Given the description of an element on the screen output the (x, y) to click on. 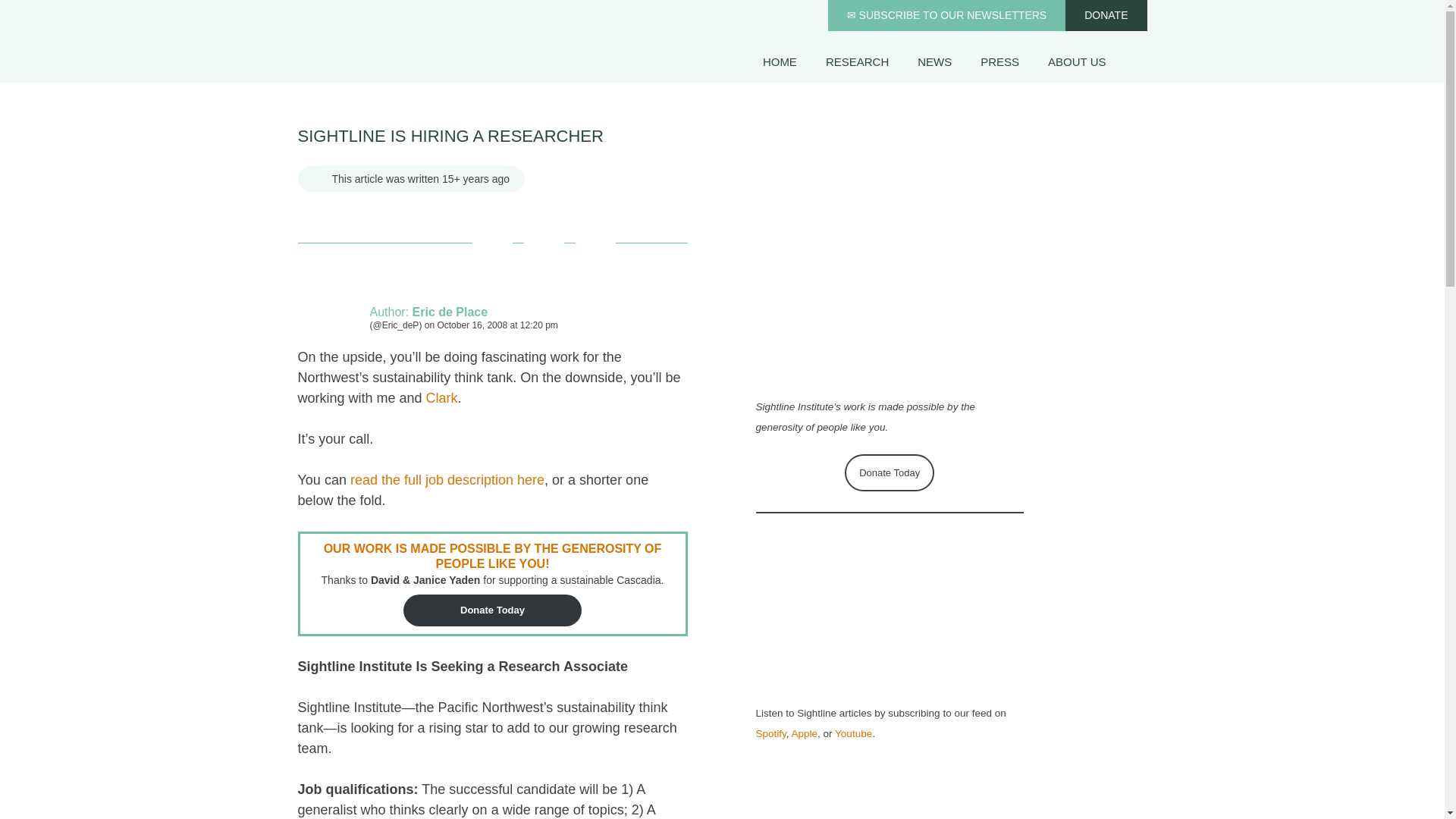
NEWS (934, 61)
Eric de Place on twitter (395, 325)
PRESS (999, 61)
Posts by Eric de Place (449, 311)
ABOUT US (1076, 61)
Clark's Got Style, Too (442, 397)
Share This Post on LinkedIN (595, 243)
RESEARCH (856, 61)
DONATE (1106, 15)
HOME (779, 61)
